Given the description of an element on the screen output the (x, y) to click on. 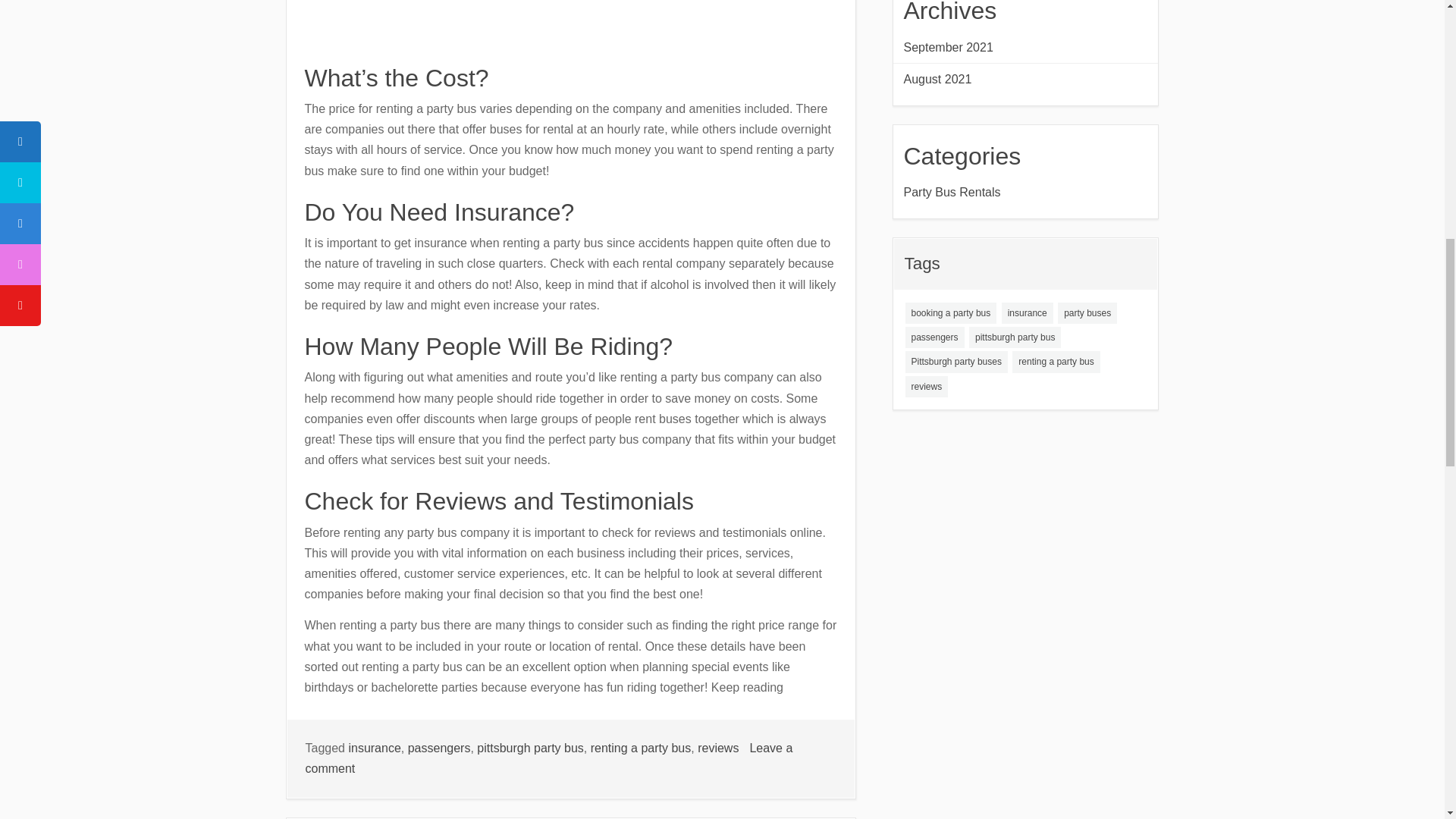
YouTube video player (516, 20)
passengers (934, 337)
passengers (438, 748)
August 2021 (1026, 78)
renting a party bus (641, 748)
Party Bus Rentals (1026, 191)
pittsburgh party bus (530, 748)
pittsburgh party bus (1015, 337)
September 2021 (548, 758)
insurance (1026, 46)
reviews (373, 748)
insurance (717, 748)
booking a party bus (1026, 312)
party buses (951, 312)
